Given the description of an element on the screen output the (x, y) to click on. 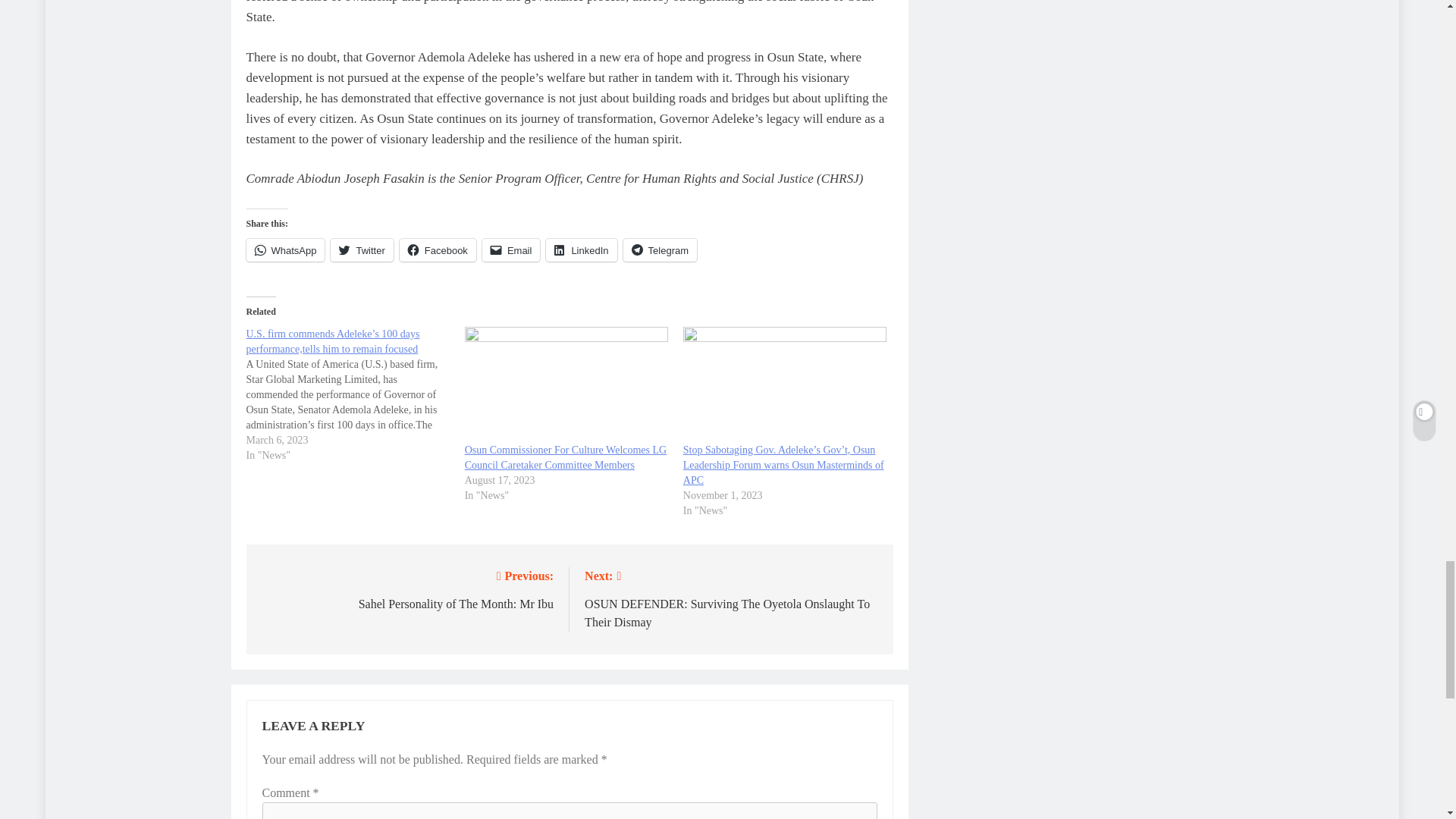
Telegram (660, 250)
LinkedIn (580, 250)
Twitter (361, 250)
Facebook (437, 250)
Email (510, 250)
WhatsApp (285, 250)
